Given the description of an element on the screen output the (x, y) to click on. 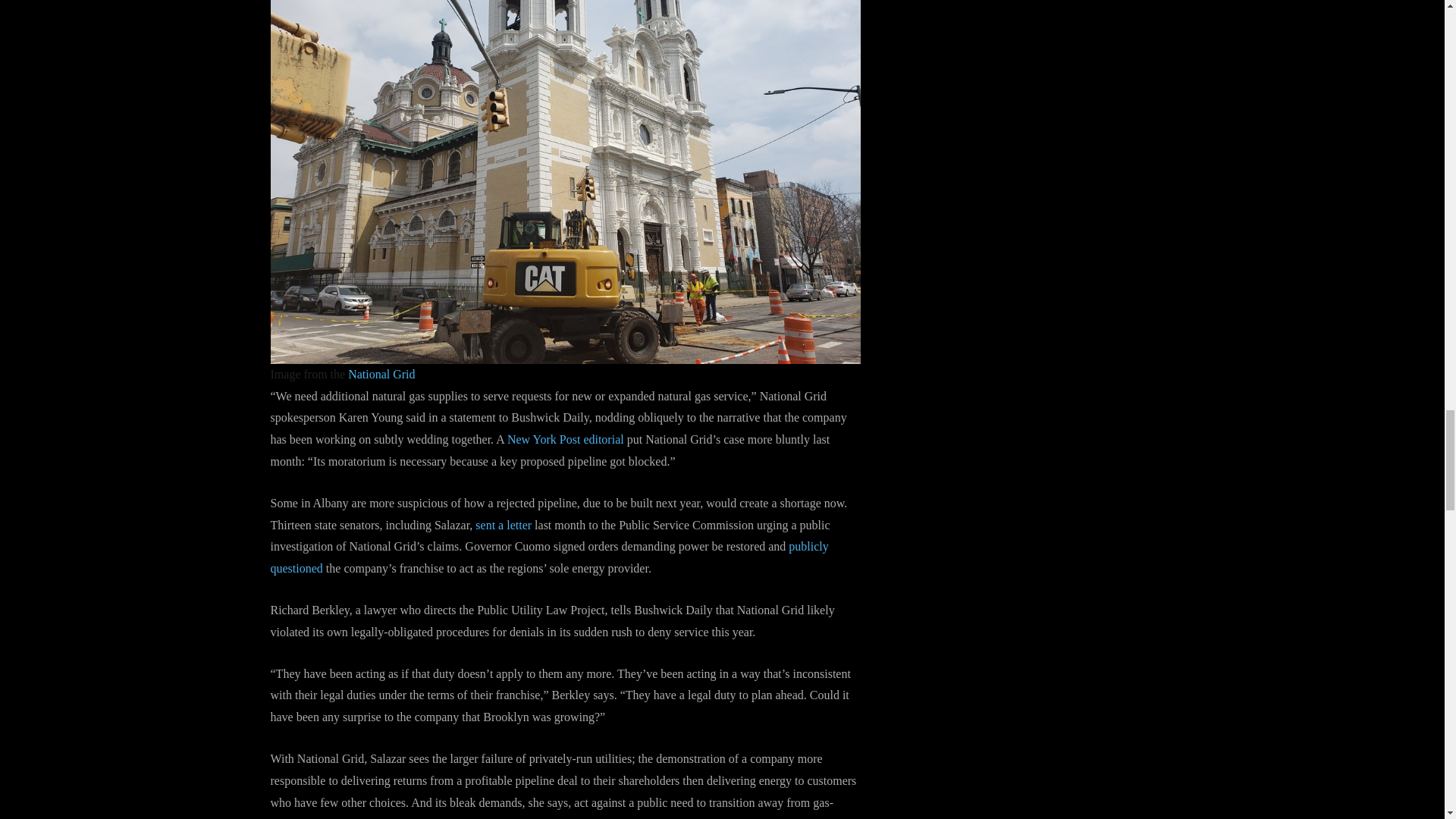
publicly questioned (548, 556)
National Grid (380, 373)
New York Post editorial (565, 439)
sent a letter (503, 524)
